Given the description of an element on the screen output the (x, y) to click on. 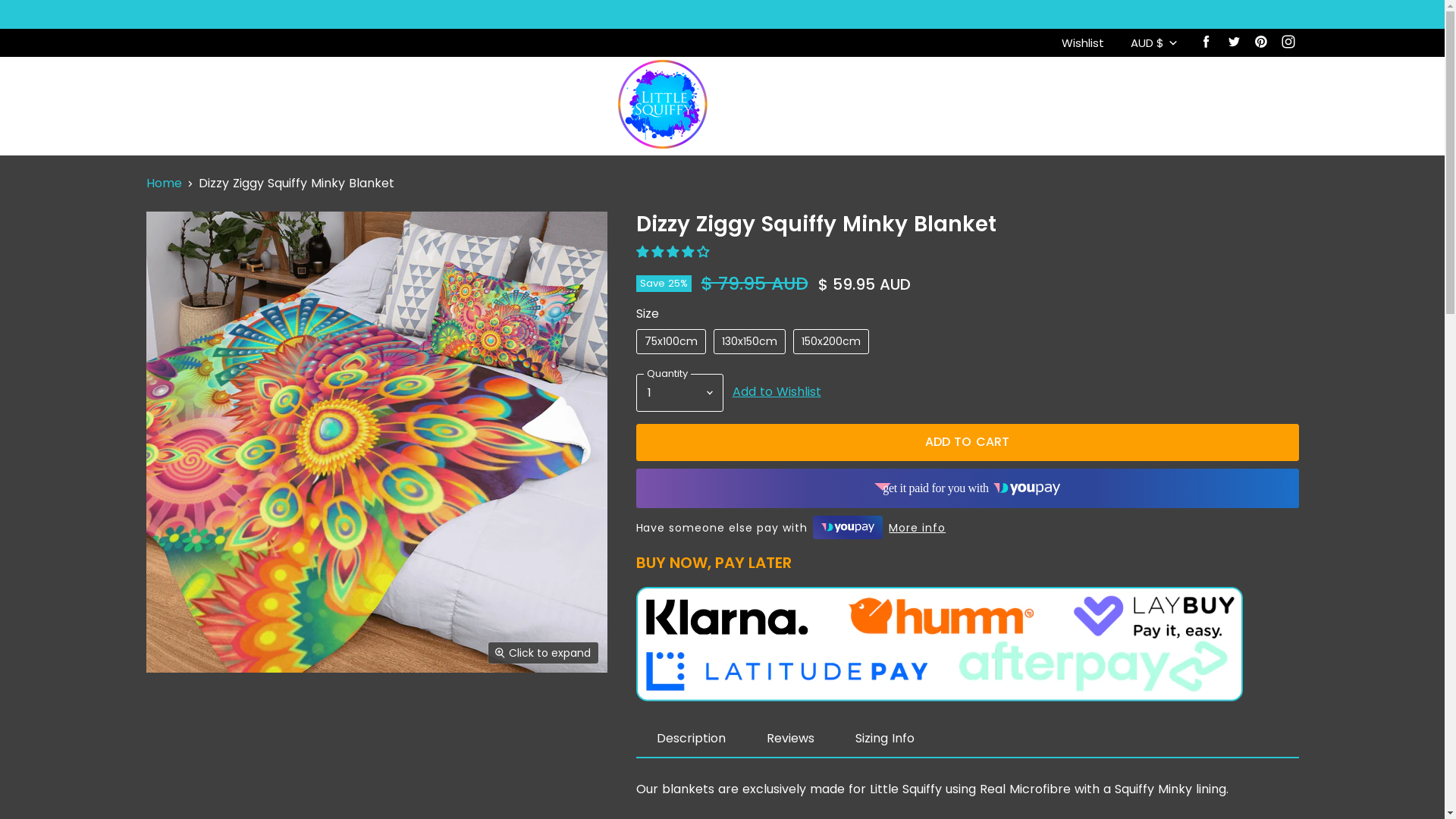
Description Element type: text (690, 738)
Find us on Facebook Element type: text (1205, 41)
Find us on Twitter Element type: text (1232, 41)
AUD $ Element type: text (1153, 42)
Find us on Pinterest Element type: text (1260, 41)
Have someone else pay with
More info Element type: text (790, 527)
Reviews Element type: text (790, 738)
Sizing Info Element type: text (884, 738)
Home Element type: text (163, 183)
Add to Wishlist Element type: text (776, 391)
Wishlist Element type: text (1082, 42)
Click to expand Element type: text (543, 652)
get it paid for you with Element type: text (966, 488)
Find us on Instagram Element type: text (1287, 41)
ADD TO CART Element type: text (966, 441)
